Given the description of an element on the screen output the (x, y) to click on. 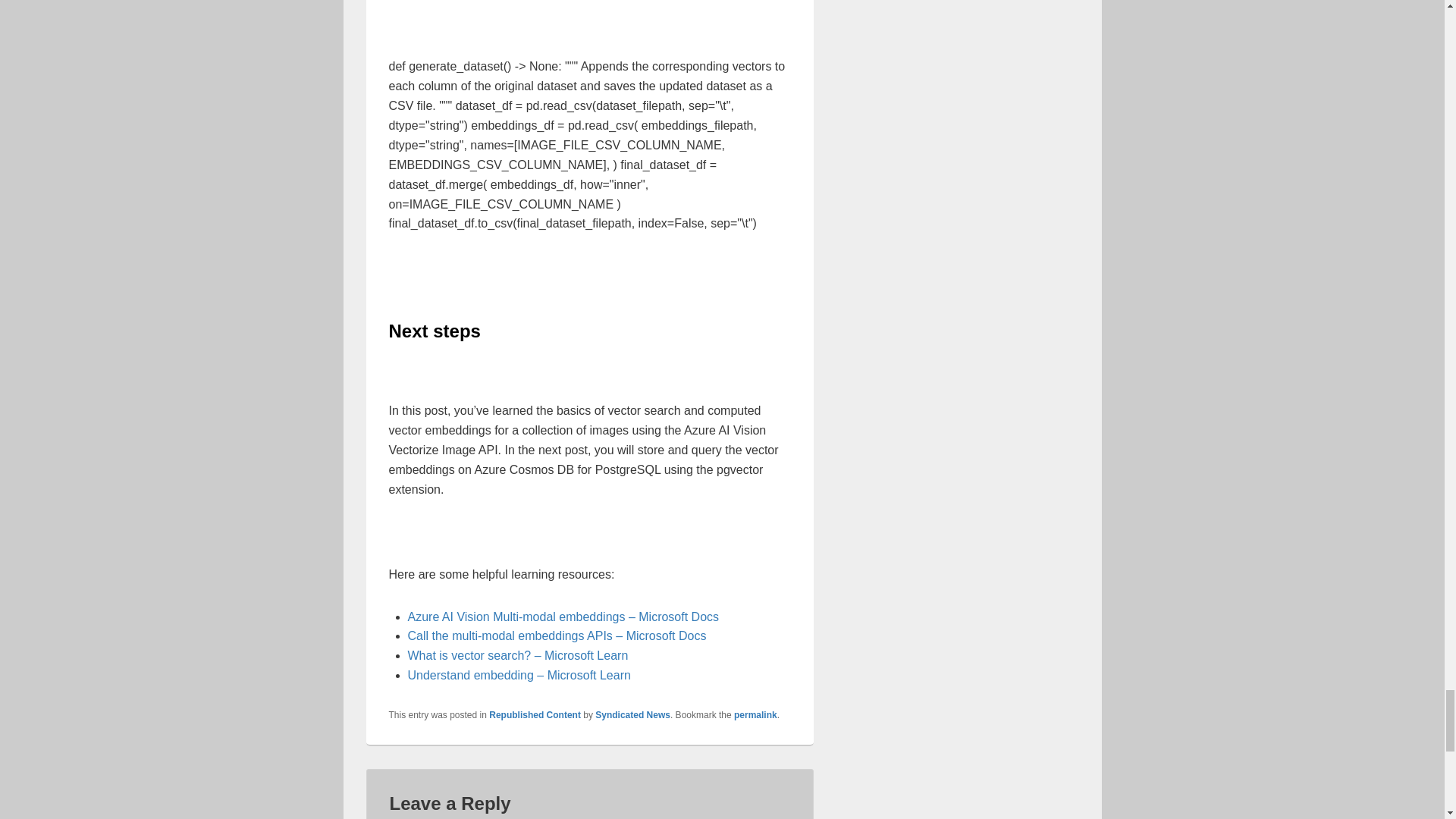
Republished Content (534, 715)
Syndicated News (632, 715)
permalink (755, 715)
